Given the description of an element on the screen output the (x, y) to click on. 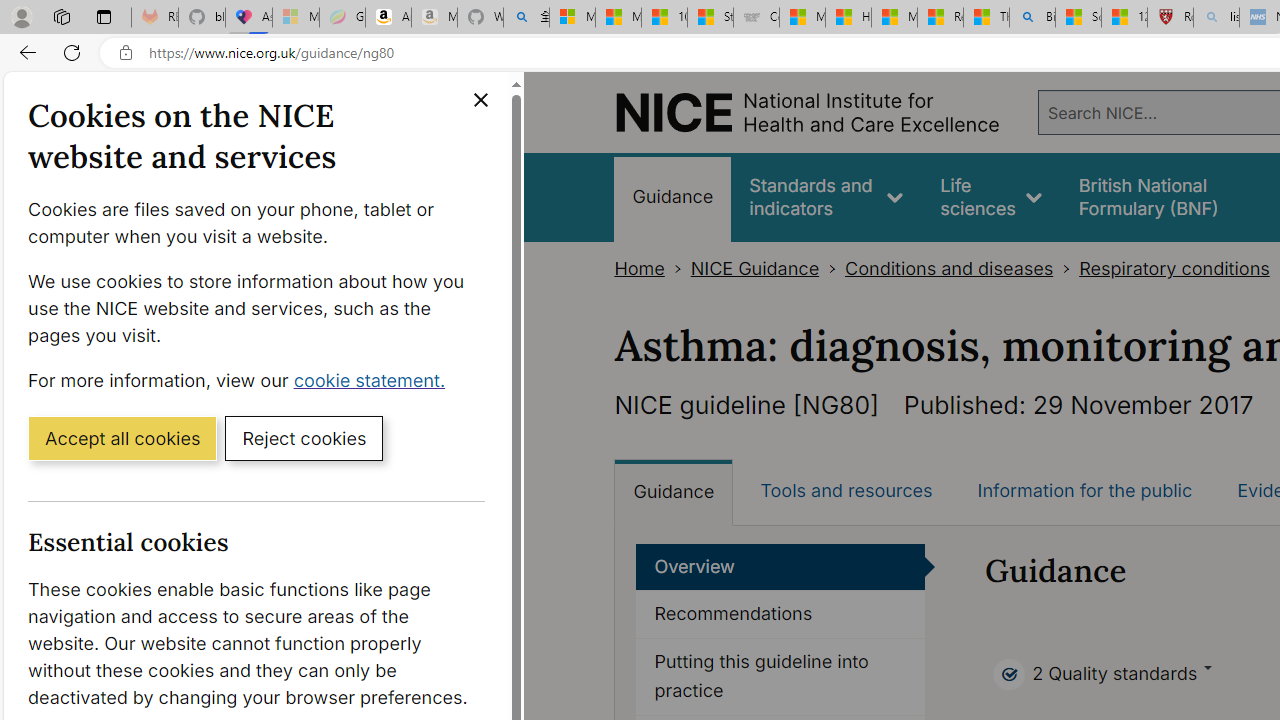
Putting this guideline into practice (781, 676)
NICE Guidance> (767, 268)
Science - MSN (1078, 17)
Guidance (673, 491)
Overview (780, 566)
Conditions and diseases> (962, 268)
Recommendations (781, 615)
Life sciences (991, 196)
Bing (1031, 17)
Conditions and diseases (948, 268)
